Given the description of an element on the screen output the (x, y) to click on. 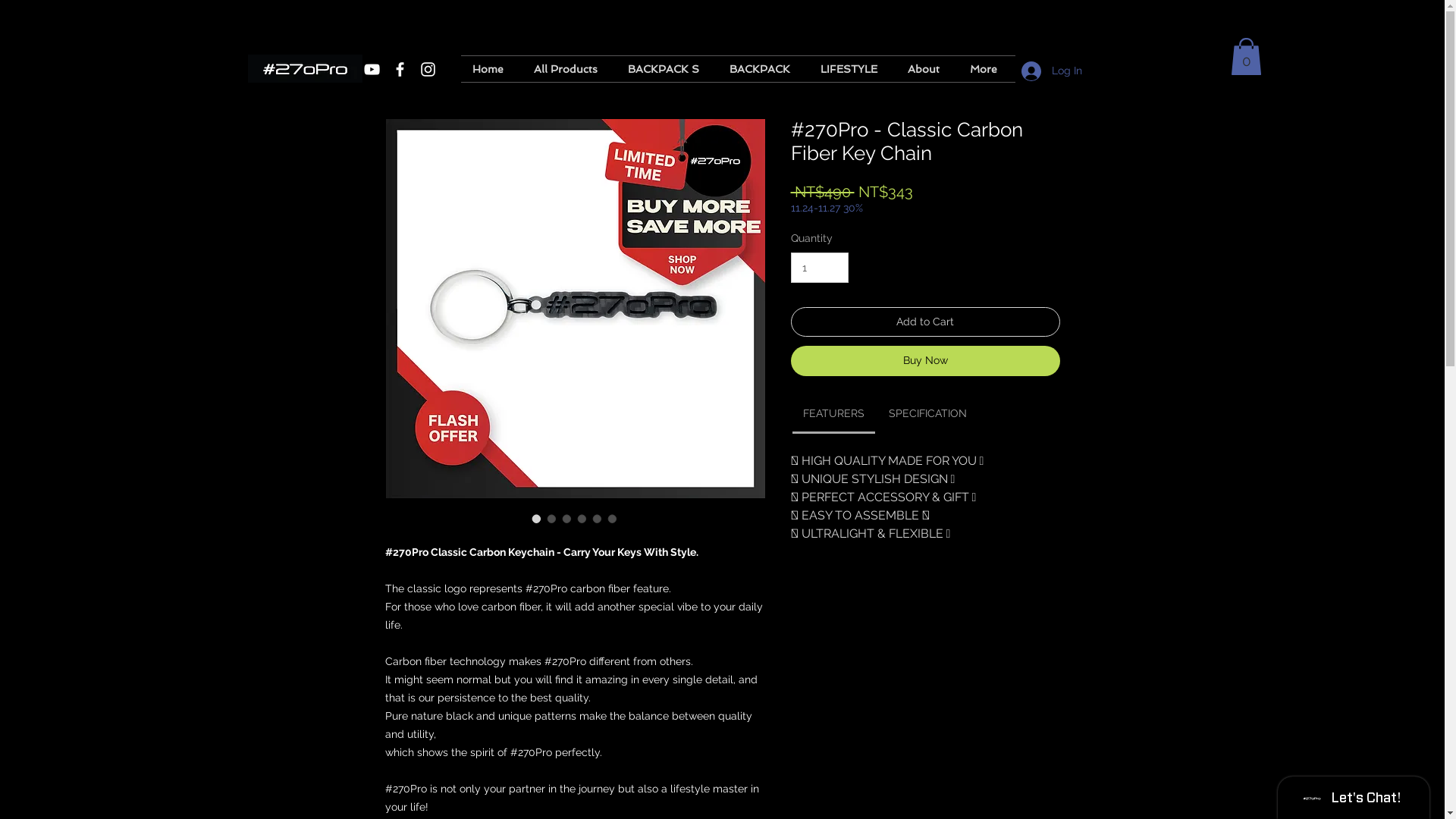
About Element type: text (927, 68)
Buy Now Element type: text (924, 360)
LIFESTYLE Element type: text (851, 68)
BACKPACK Element type: text (762, 68)
Home Element type: text (491, 68)
0 Element type: text (1245, 56)
Add to Cart Element type: text (924, 321)
Log In Element type: text (1051, 70)
BACKPACK S Element type: text (666, 68)
All Products Element type: text (568, 68)
